Given the description of an element on the screen output the (x, y) to click on. 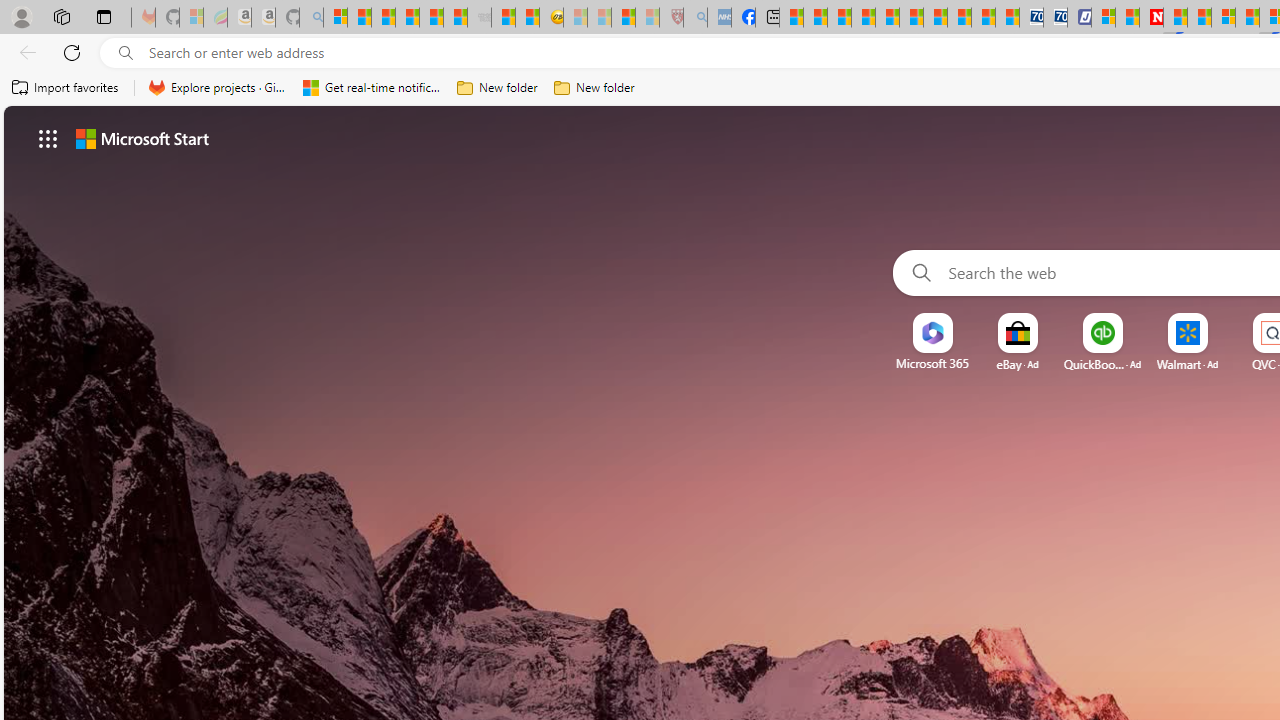
New folder (594, 88)
Latest Politics News & Archive | Newsweek.com (1151, 17)
App launcher (47, 138)
